Given the description of an element on the screen output the (x, y) to click on. 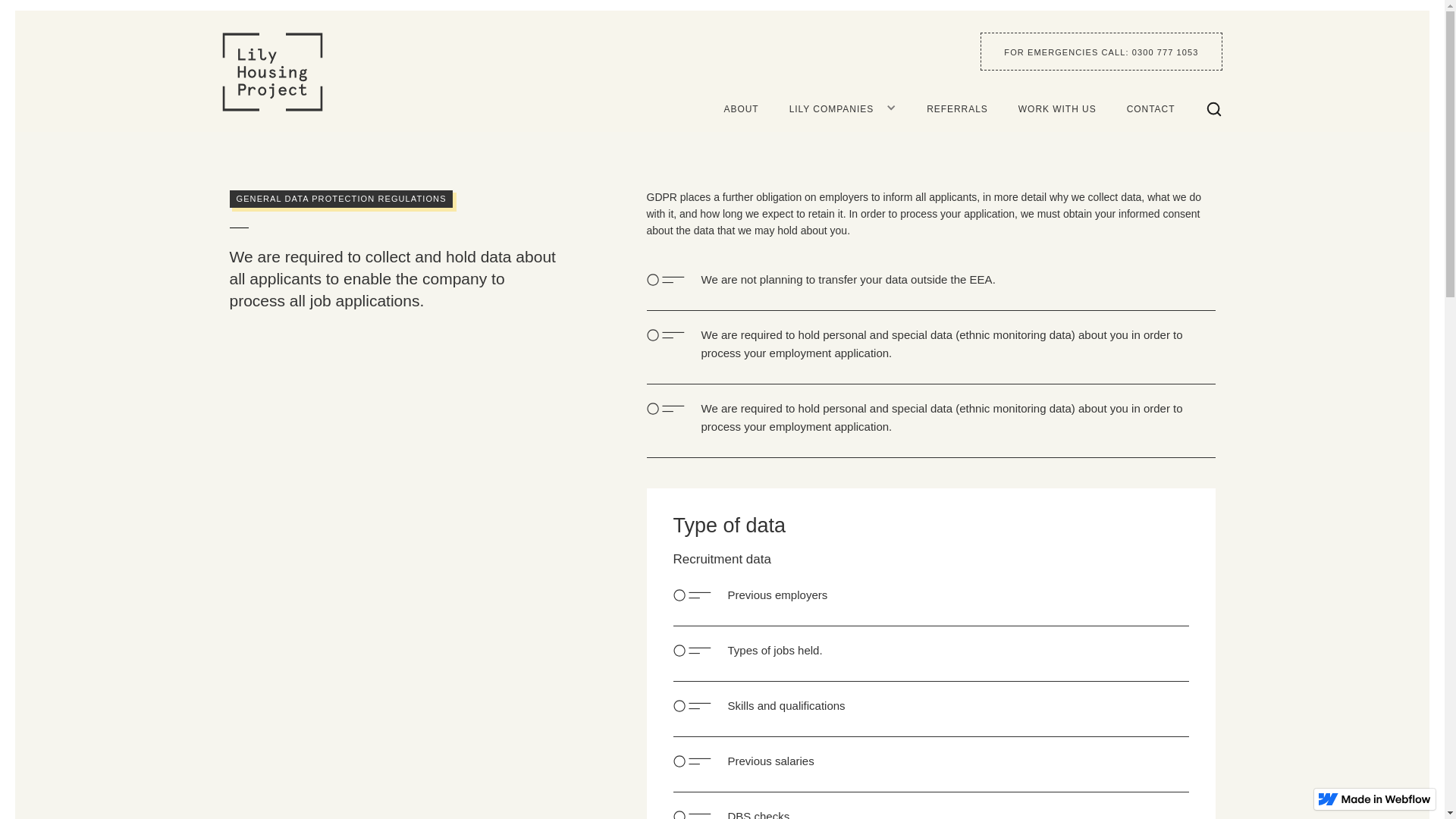
CONTACT (1165, 108)
ABOUT (756, 108)
WORK WITH US (1071, 108)
FOR EMERGENCIES CALL: 0300 777 1053 (1100, 50)
REFERRALS (971, 108)
